Given the description of an element on the screen output the (x, y) to click on. 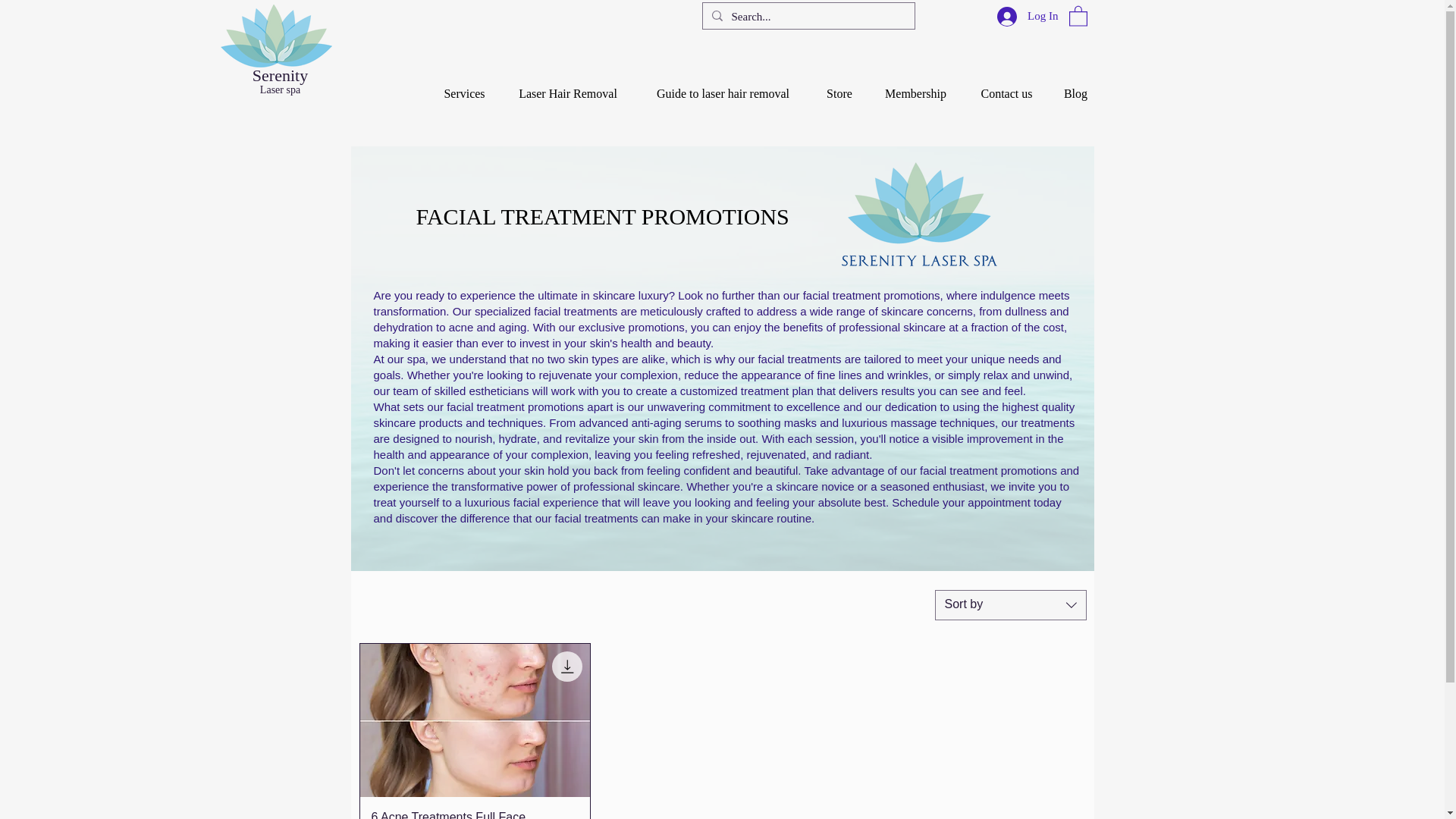
Services (464, 86)
Guide to laser hair removal (722, 86)
Sort by (1010, 604)
Blog (1074, 86)
Membership (914, 86)
Serenity (279, 75)
Contact us (1005, 86)
Laser Hair Removal (567, 86)
Store (838, 86)
Log In (1027, 15)
